Given the description of an element on the screen output the (x, y) to click on. 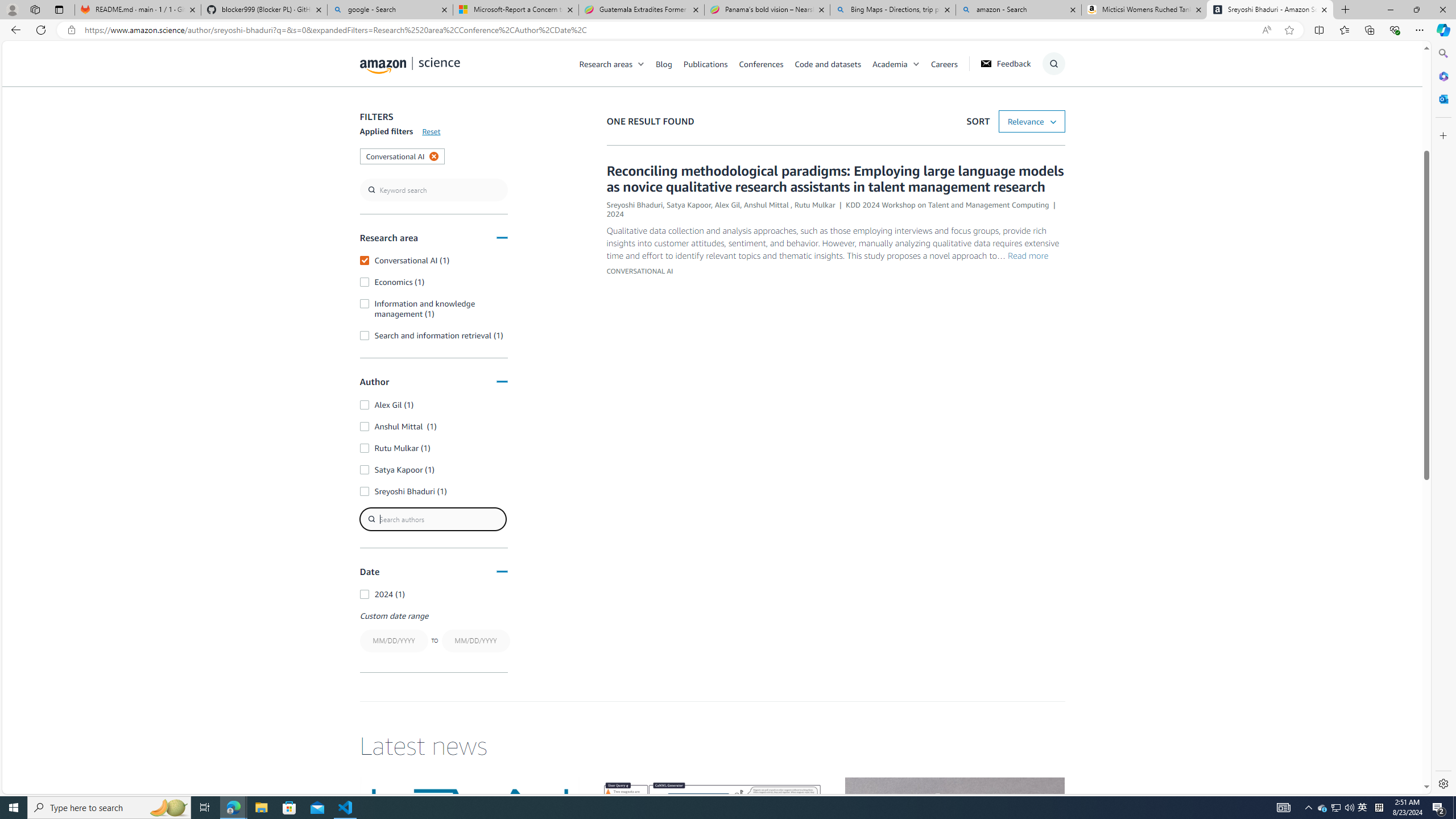
SORT (1031, 121)
Sreyoshi Bhaduri (633, 204)
Code and datasets (833, 63)
Publications (705, 63)
Rutu Mulkar (814, 204)
Alex Gil (727, 204)
